Given the description of an element on the screen output the (x, y) to click on. 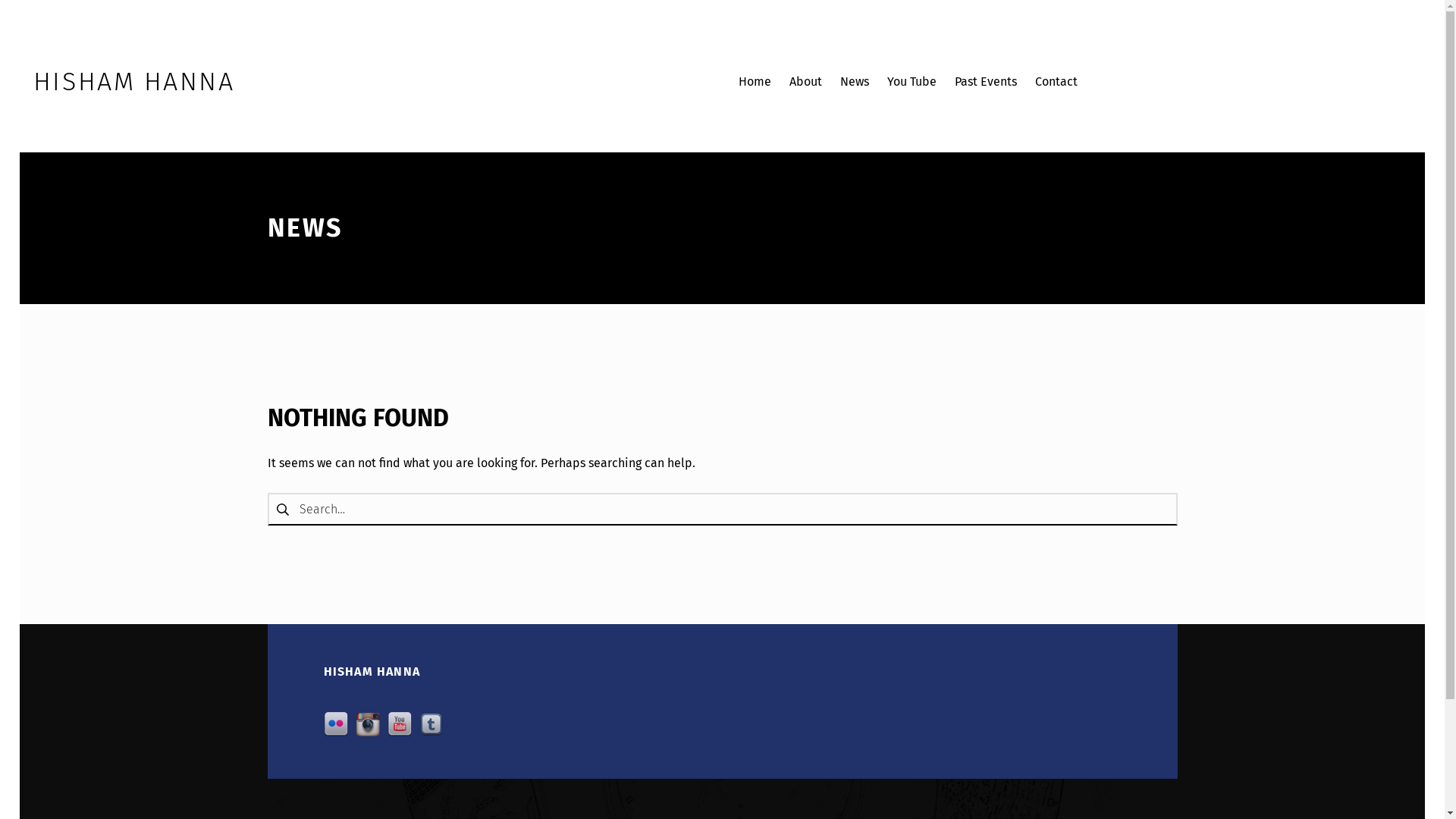
Search Element type: text (15, 16)
About Element type: text (805, 81)
Contact Element type: text (1056, 81)
You Tube Element type: text (911, 81)
HISHAM HANNA Element type: text (134, 81)
Past Events Element type: text (985, 81)
Follow Us on Flickr Element type: hover (335, 724)
Follow Us on Tumblr Element type: hover (431, 724)
News Element type: text (854, 81)
Follow Us on YouTube Element type: hover (399, 724)
Skip to main navigation Element type: text (18, 18)
Home Element type: text (754, 81)
Follow Us on Instagram Element type: hover (367, 724)
